Given the description of an element on the screen output the (x, y) to click on. 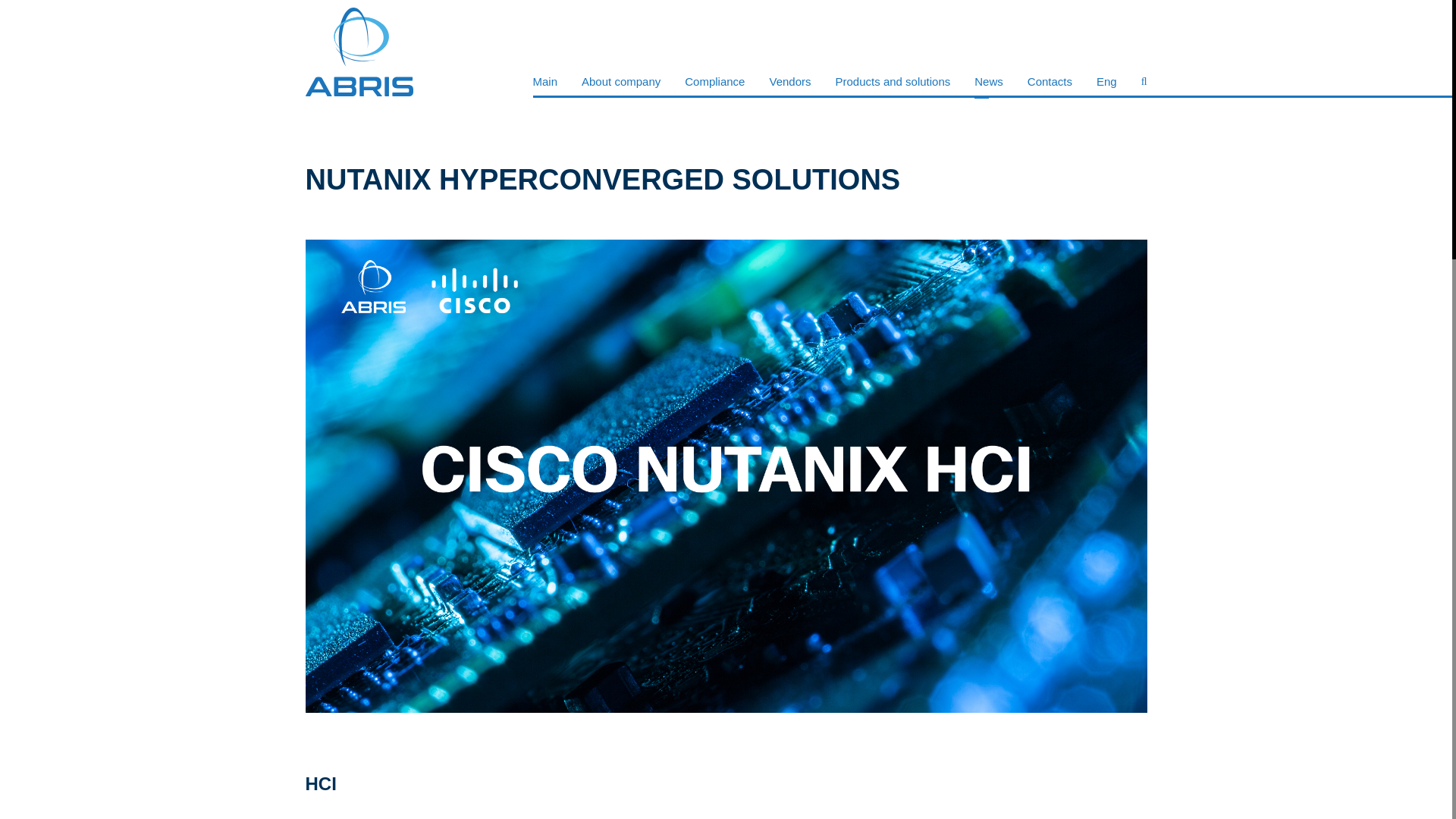
Compliance (714, 81)
Eng (1106, 81)
News (988, 81)
About company (620, 81)
Main (544, 81)
Contacts (1049, 81)
Vendors (789, 81)
Products and solutions (892, 81)
